Given the description of an element on the screen output the (x, y) to click on. 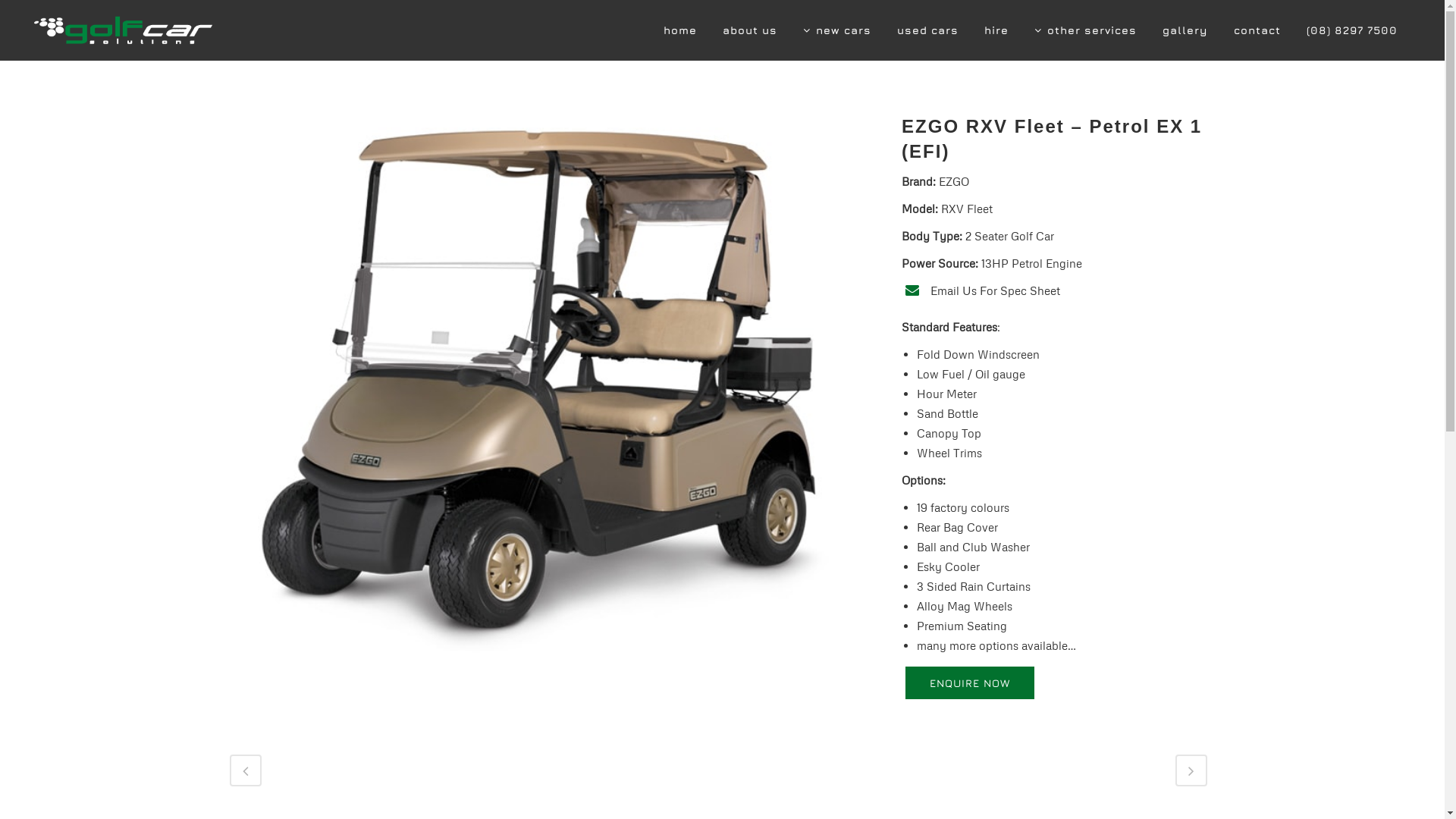
used cars Element type: text (927, 30)
other services Element type: text (1085, 30)
ENQUIRE NOW Element type: text (969, 682)
(08) 8297 7500 Element type: text (1351, 30)
about us Element type: text (749, 30)
new cars Element type: text (837, 30)
hire Element type: text (996, 30)
home Element type: text (679, 30)
gallery Element type: text (1184, 30)
contact Element type: text (1256, 30)
